Given the description of an element on the screen output the (x, y) to click on. 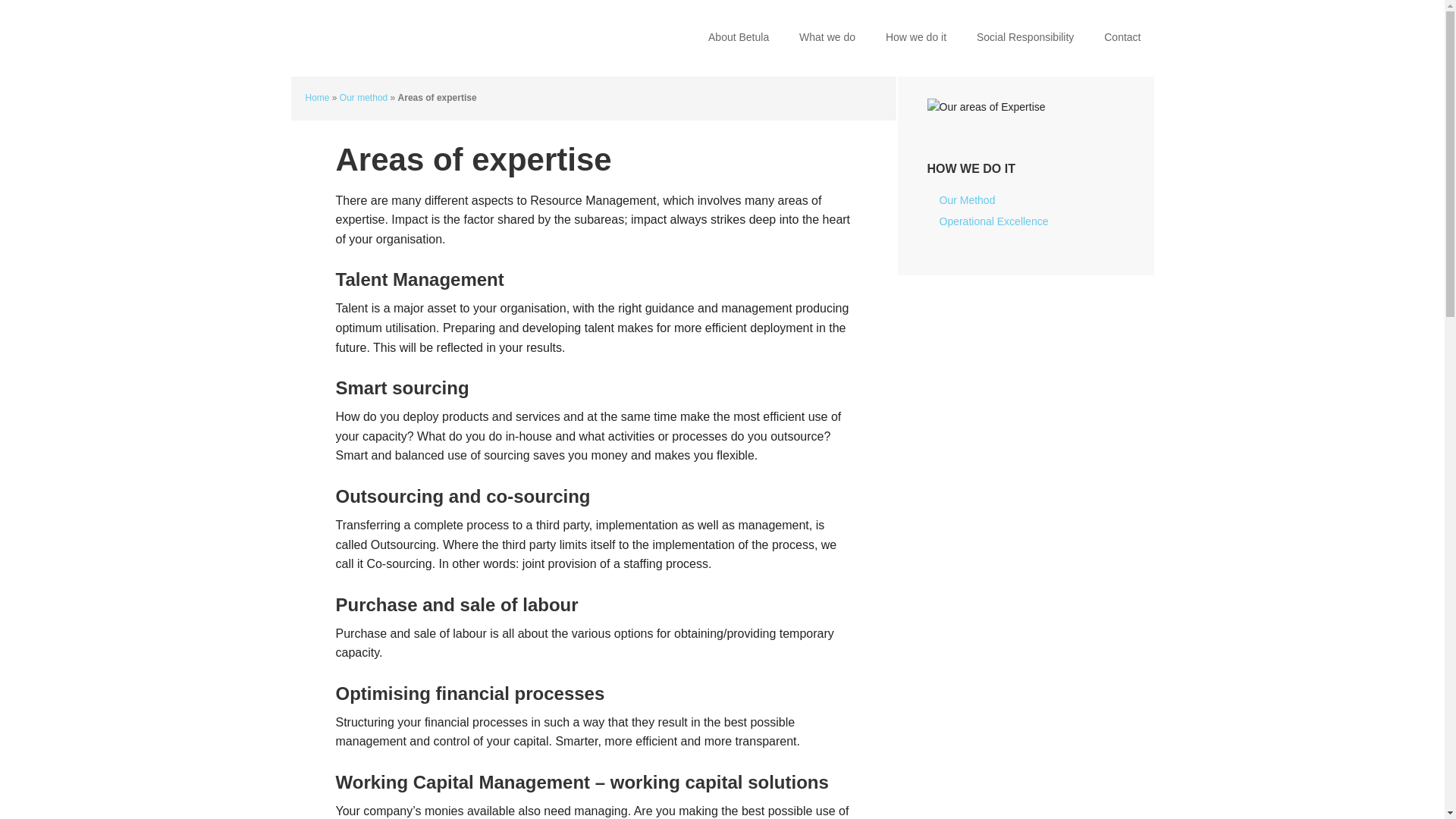
About Betula (738, 38)
How we do it (915, 38)
What we do (827, 38)
Home (316, 97)
Operational Excellence (993, 221)
Our method (363, 97)
Our Method (966, 200)
Social Responsibility (1024, 38)
Betula Services (387, 38)
